Given the description of an element on the screen output the (x, y) to click on. 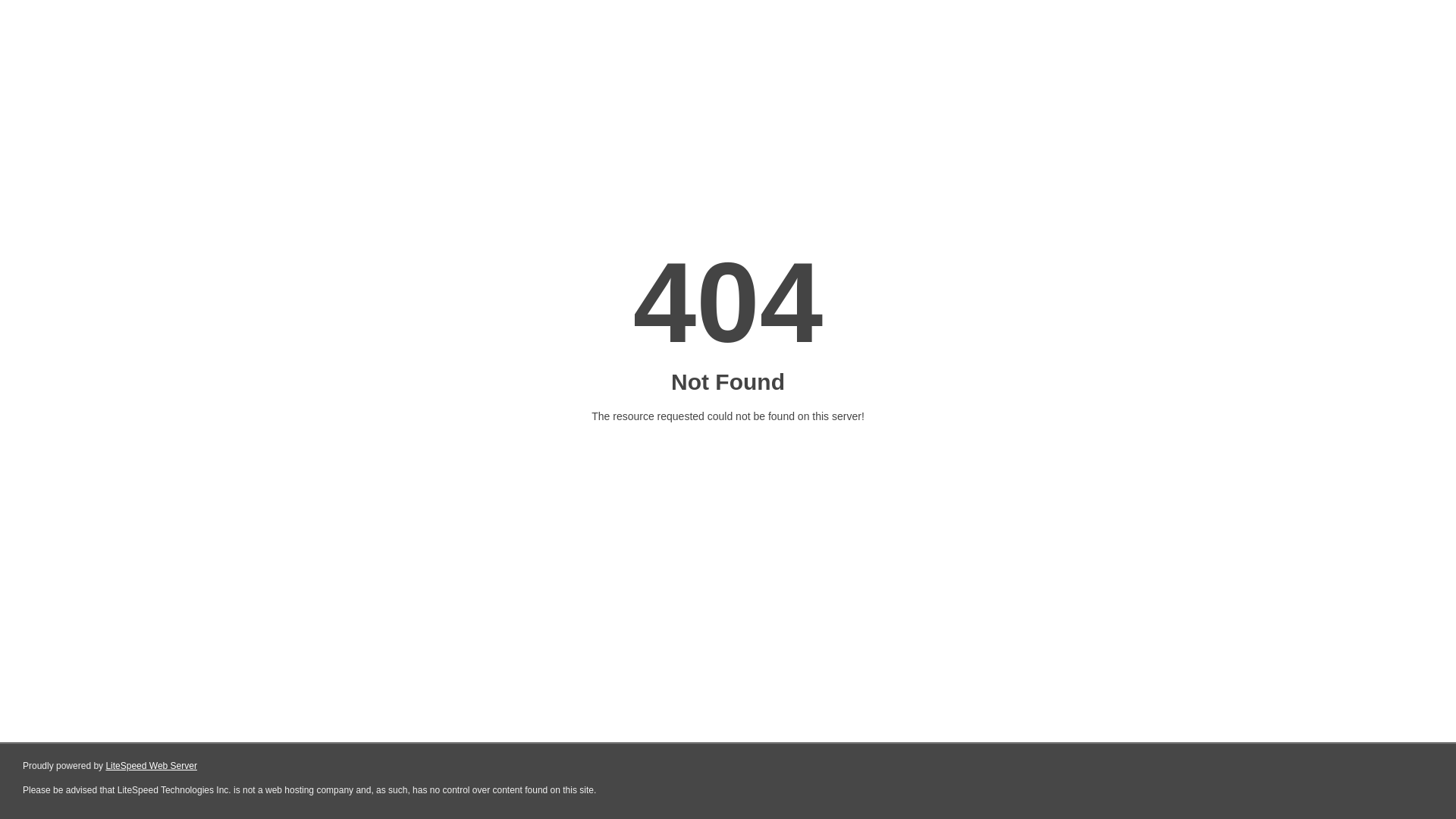
LiteSpeed Web Server Element type: text (151, 765)
